Given the description of an element on the screen output the (x, y) to click on. 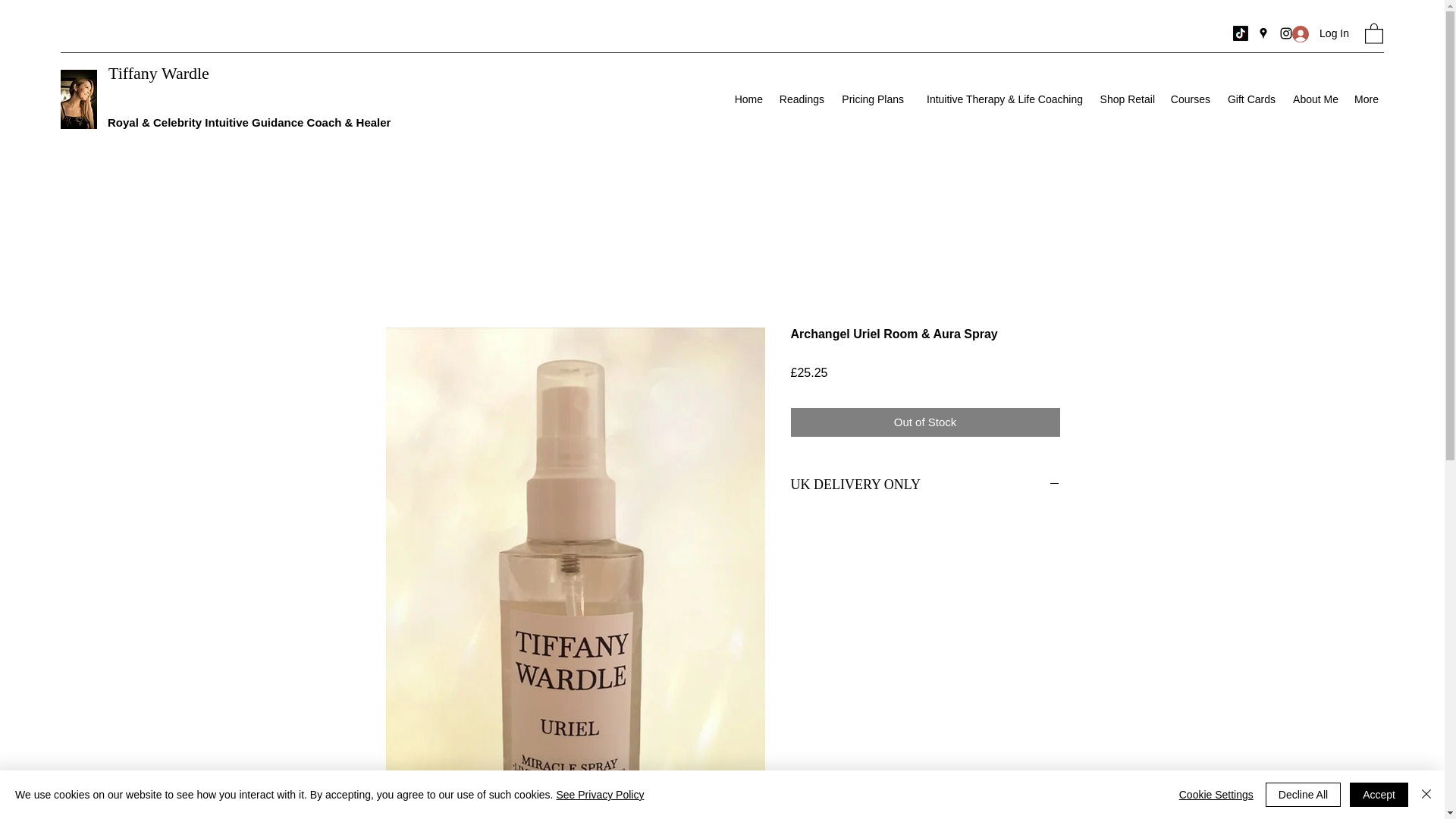
Courses (1189, 98)
Decline All (1302, 794)
Log In (1320, 33)
Tiffany Wardle (158, 72)
See Privacy Policy (599, 794)
About Me (1313, 98)
Readings (800, 98)
Gift Cards (1249, 98)
Shop Retail (1125, 98)
Out of Stock (924, 422)
